Given the description of an element on the screen output the (x, y) to click on. 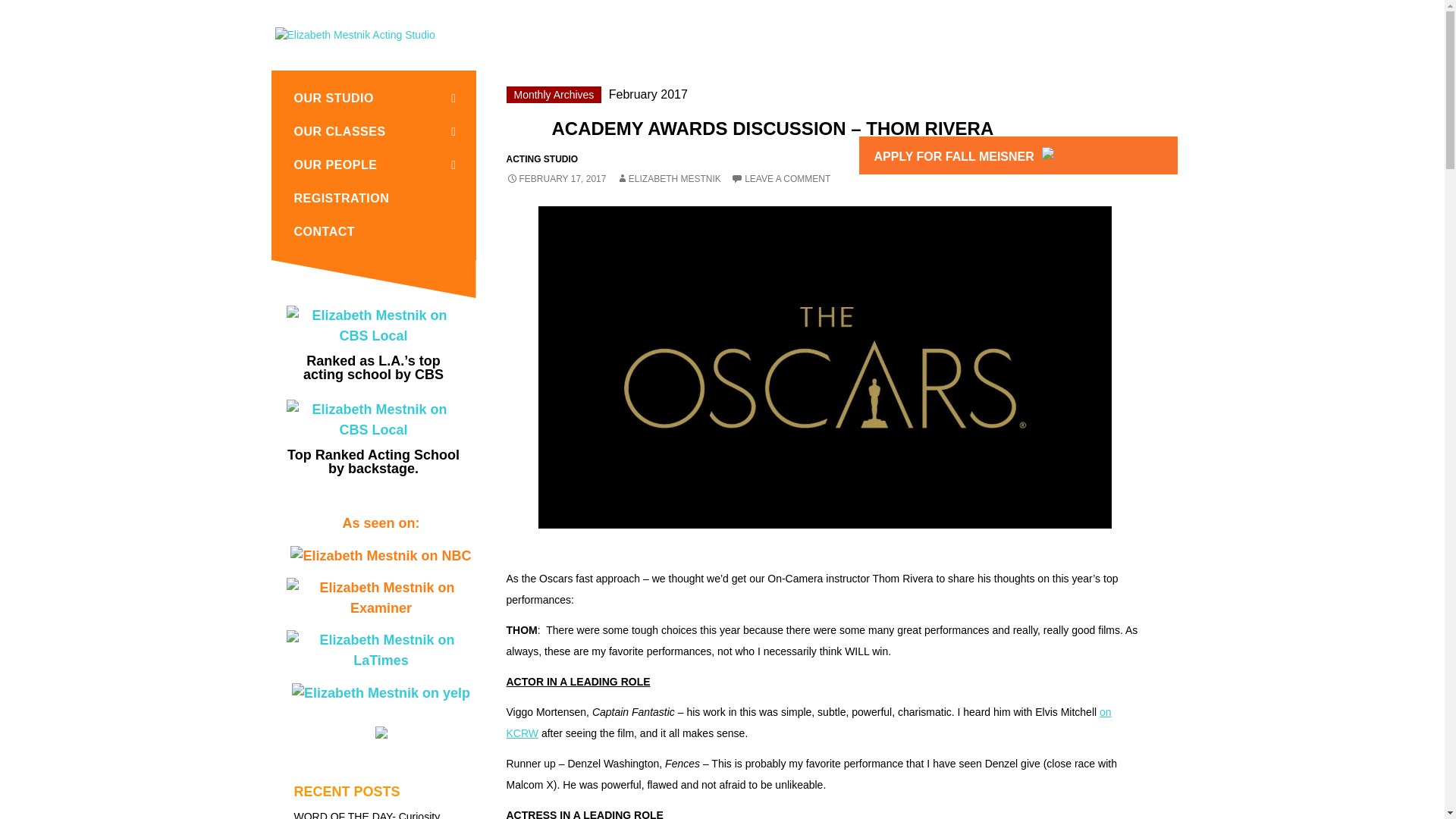
Apply for FALL MEISNER (1017, 155)
Apply for FALL MEISNER (381, 731)
ACTING STUDIO (542, 158)
APPLY FOR FALL MEISNER (1043, 146)
ELIZABETH MESTNIK (667, 178)
Los Angeles Acting School and Classes (354, 33)
FEBRUARY 17, 2017 (556, 178)
LEAVE A COMMENT (779, 178)
on KCRW (809, 722)
